Given the description of an element on the screen output the (x, y) to click on. 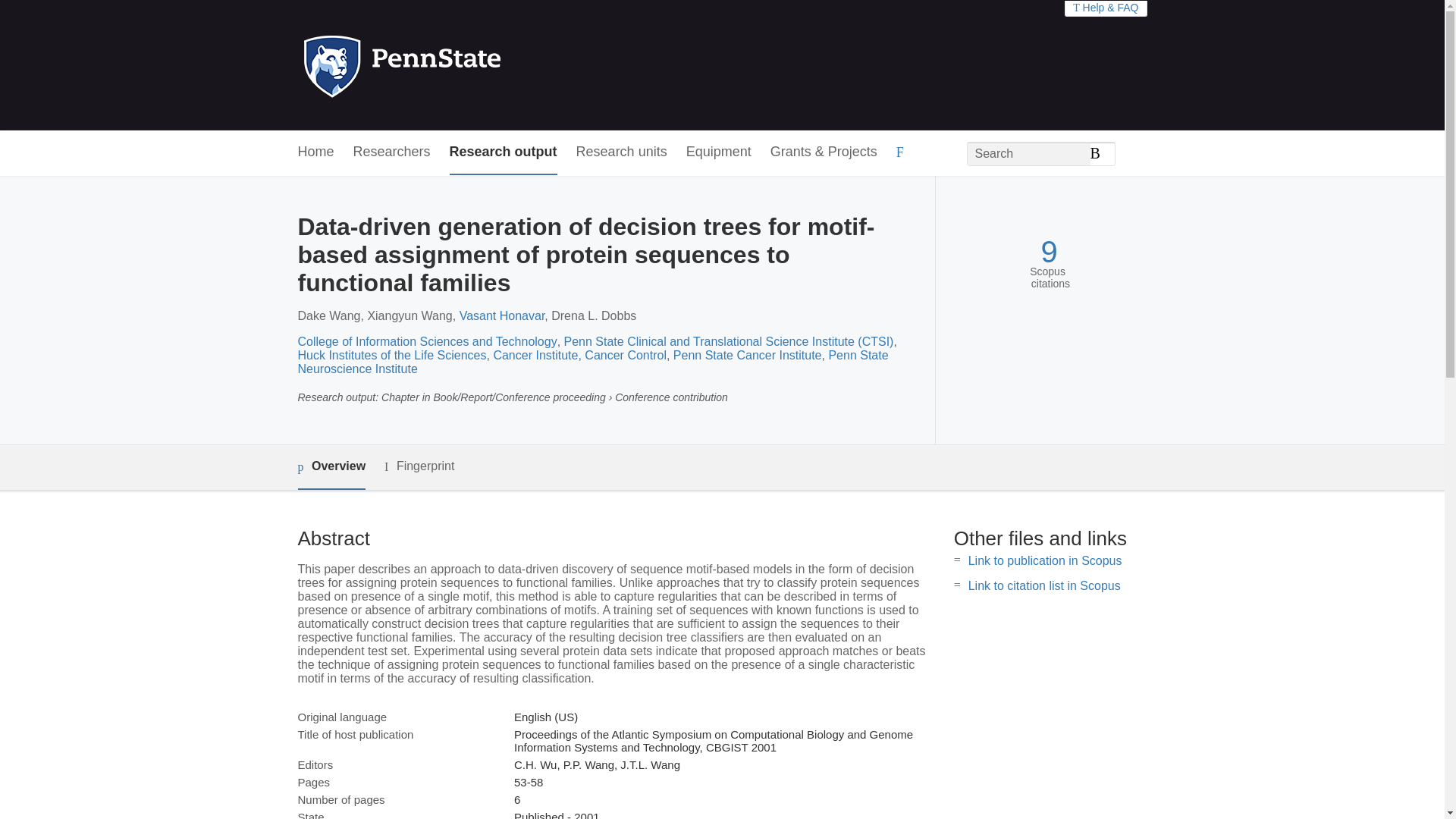
Penn State Neuroscience Institute (592, 361)
Link to publication in Scopus (1045, 560)
Cancer Institute, Cancer Control (579, 354)
College of Information Sciences and Technology (426, 341)
Huck Institutes of the Life Sciences (391, 354)
Link to citation list in Scopus (1044, 585)
Researchers (391, 152)
Research output (503, 152)
Research units (621, 152)
